Given the description of an element on the screen output the (x, y) to click on. 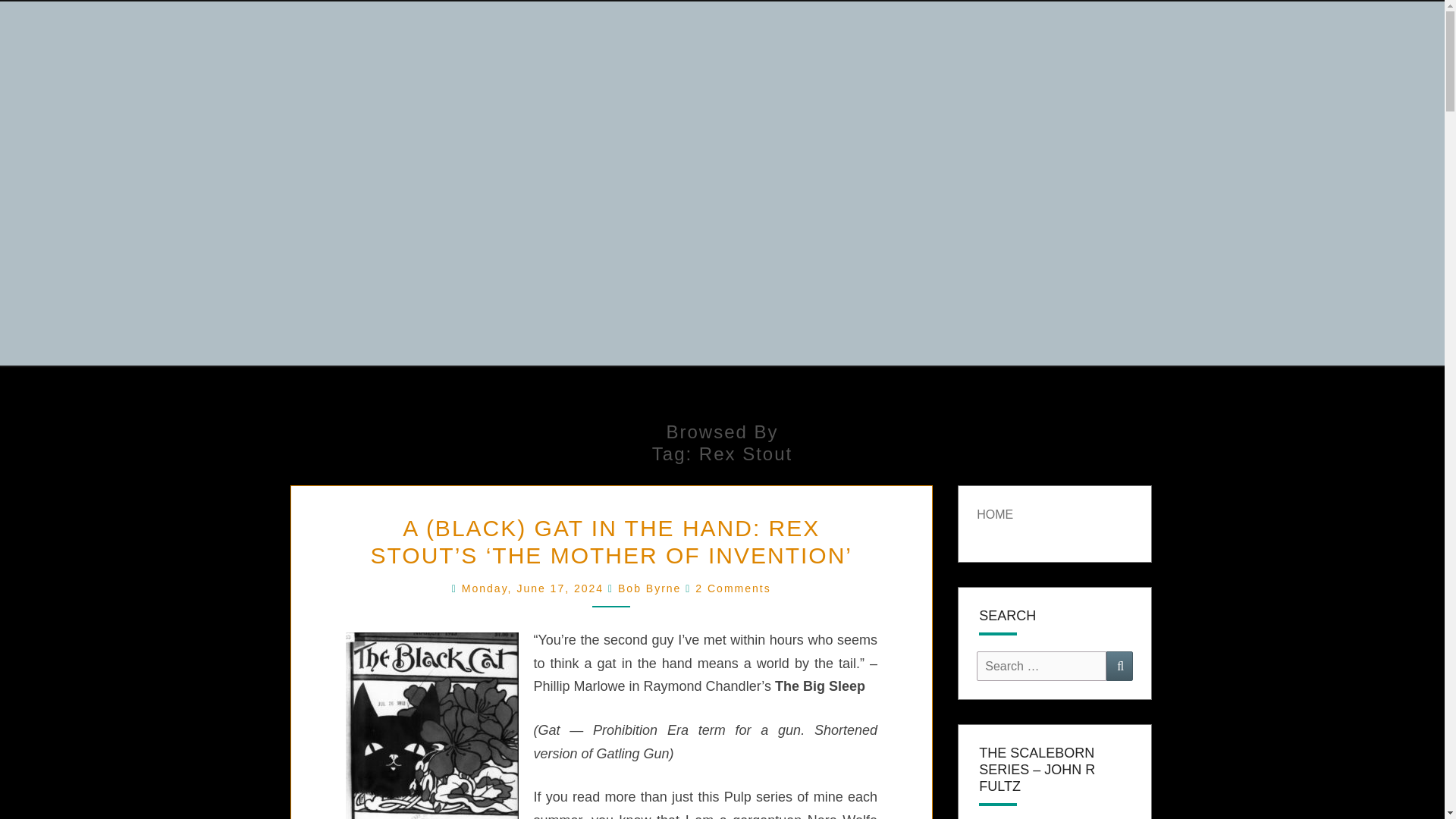
Monday, June 17, 2024 (534, 588)
View all posts by Bob Byrne (649, 588)
6:30 am (534, 588)
2 Comments (732, 588)
Bob Byrne (649, 588)
Search for: (1041, 665)
